Given the description of an element on the screen output the (x, y) to click on. 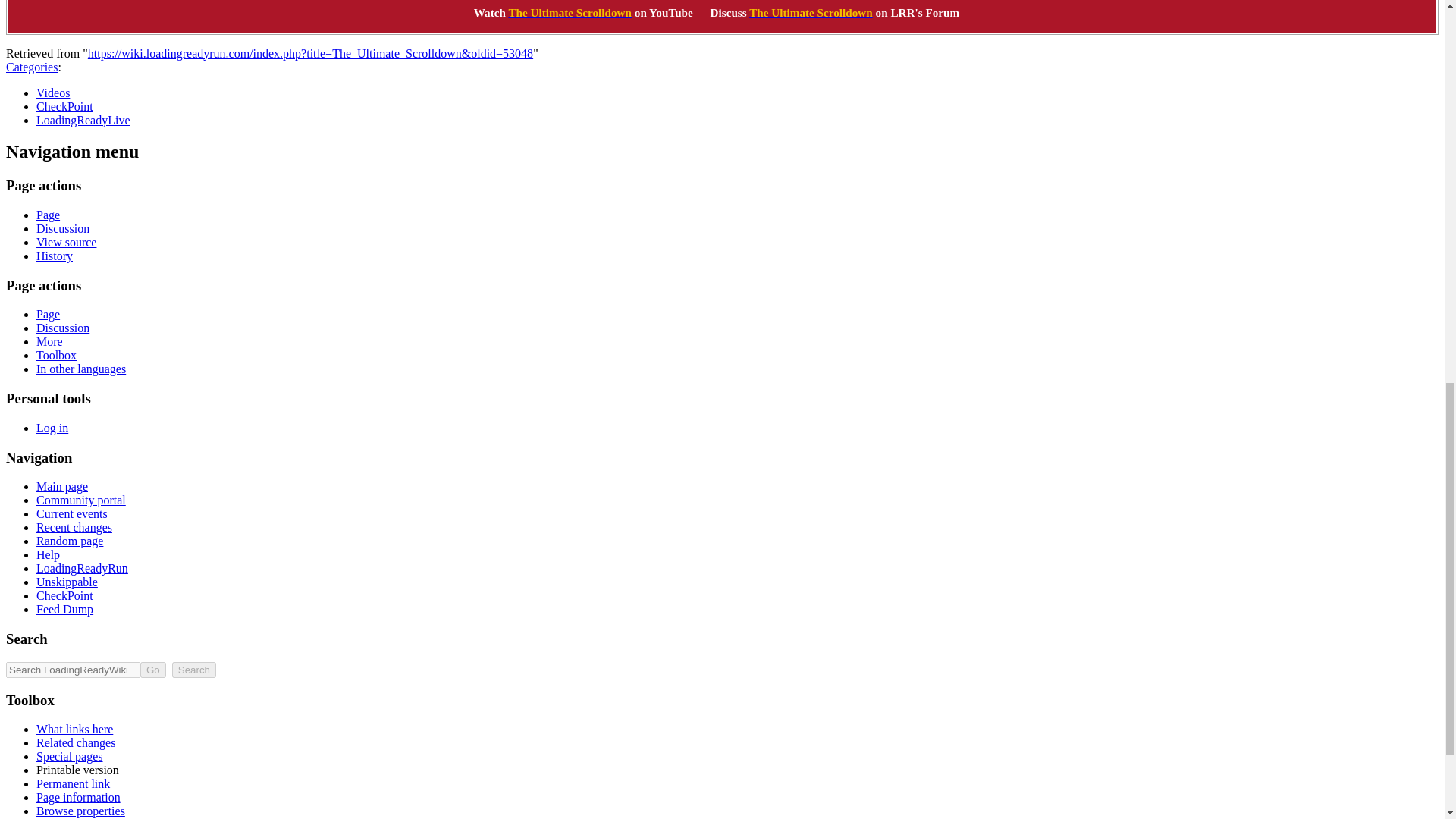
In other languages (80, 368)
Videos (52, 92)
More (49, 341)
Discussion (62, 228)
Search (193, 669)
The Ultimate Scrolldown (569, 11)
The Ultimate Scrolldown (810, 11)
View source (66, 241)
History (54, 255)
Log in (52, 427)
